Given the description of an element on the screen output the (x, y) to click on. 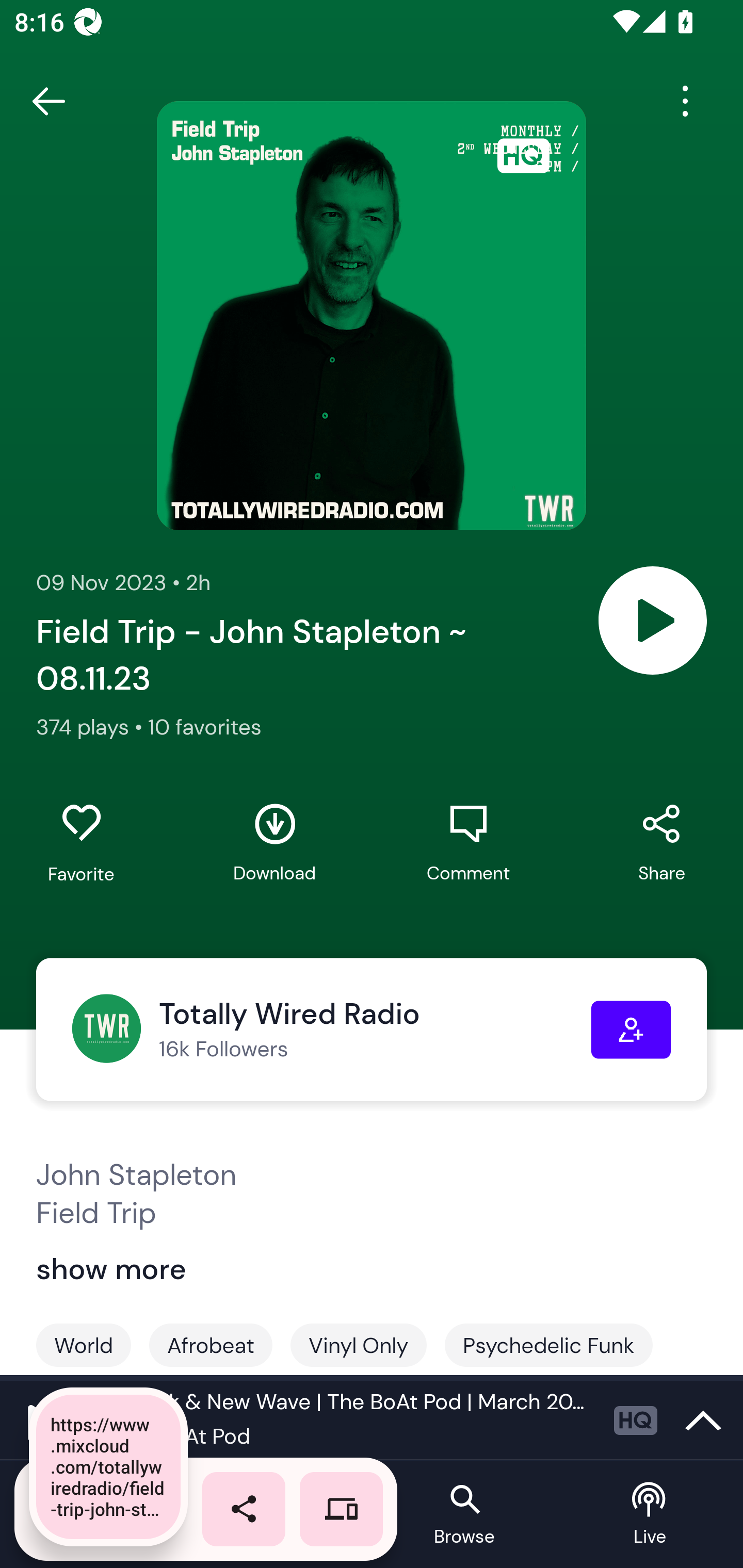
10 favorites (204, 726)
Favorite (81, 843)
Download (274, 843)
Comment (467, 843)
Share (661, 843)
Follow (630, 1029)
World (83, 1345)
Afrobeat (210, 1345)
Vinyl Only (358, 1345)
Psychedelic Funk (548, 1345)
Browse tab Browse (464, 1515)
Live tab Live (650, 1515)
